Given the description of an element on the screen output the (x, y) to click on. 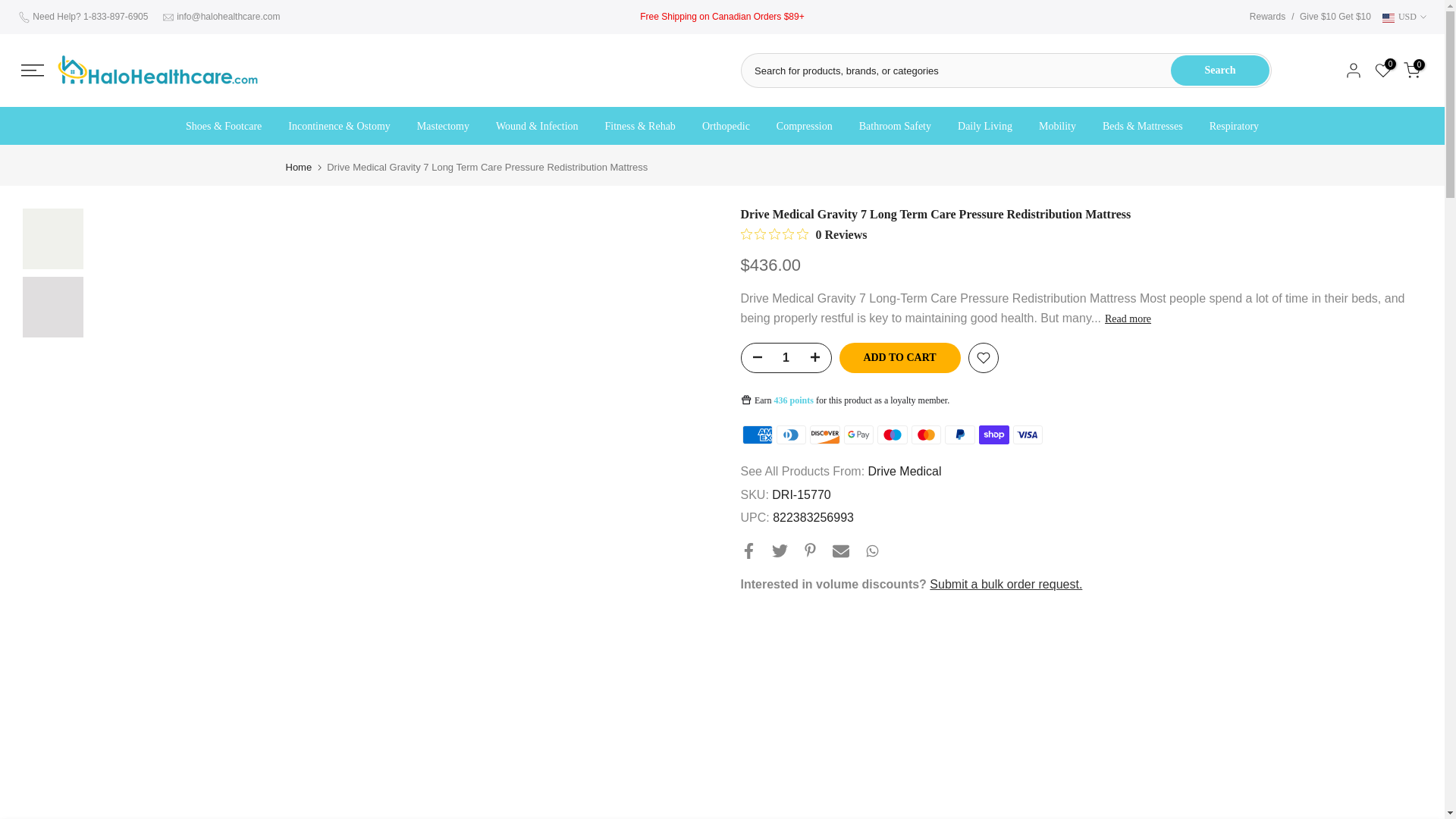
Share on Twitter (779, 550)
Search (1219, 70)
Share on Facebook (747, 550)
Compression (803, 126)
0 Reviews (802, 234)
Rewards (1267, 16)
1 (786, 357)
Mobility (1057, 126)
Share on Email (840, 550)
0 (1382, 70)
